Given the description of an element on the screen output the (x, y) to click on. 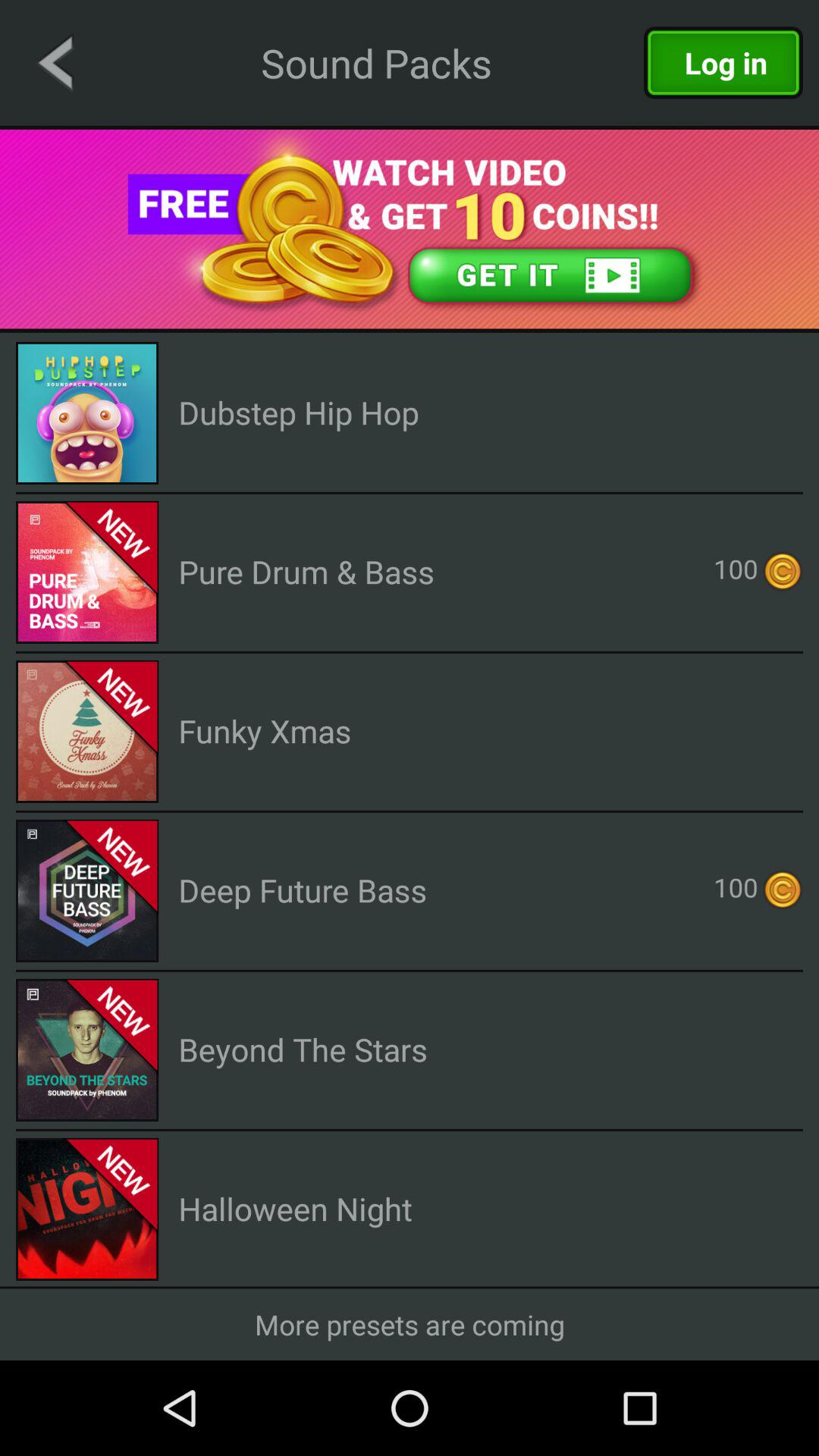
turn on the halloween night (295, 1208)
